Given the description of an element on the screen output the (x, y) to click on. 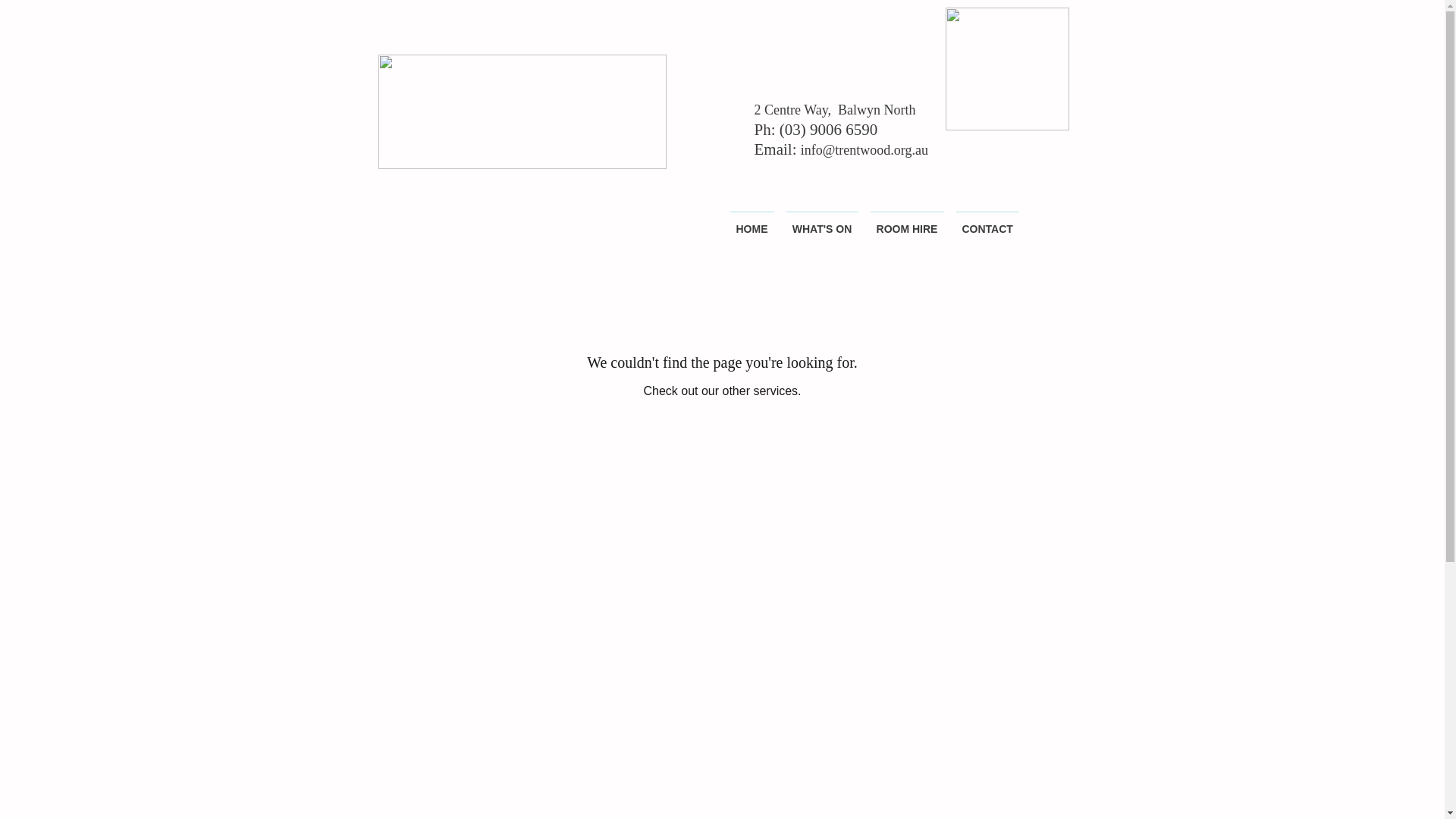
CONTACT Element type: text (986, 221)
info@trentwood.org.au Element type: text (864, 149)
HOME Element type: text (751, 221)
ROOM HIRE Element type: text (907, 221)
WHAT'S ON Element type: text (821, 221)
